Given the description of an element on the screen output the (x, y) to click on. 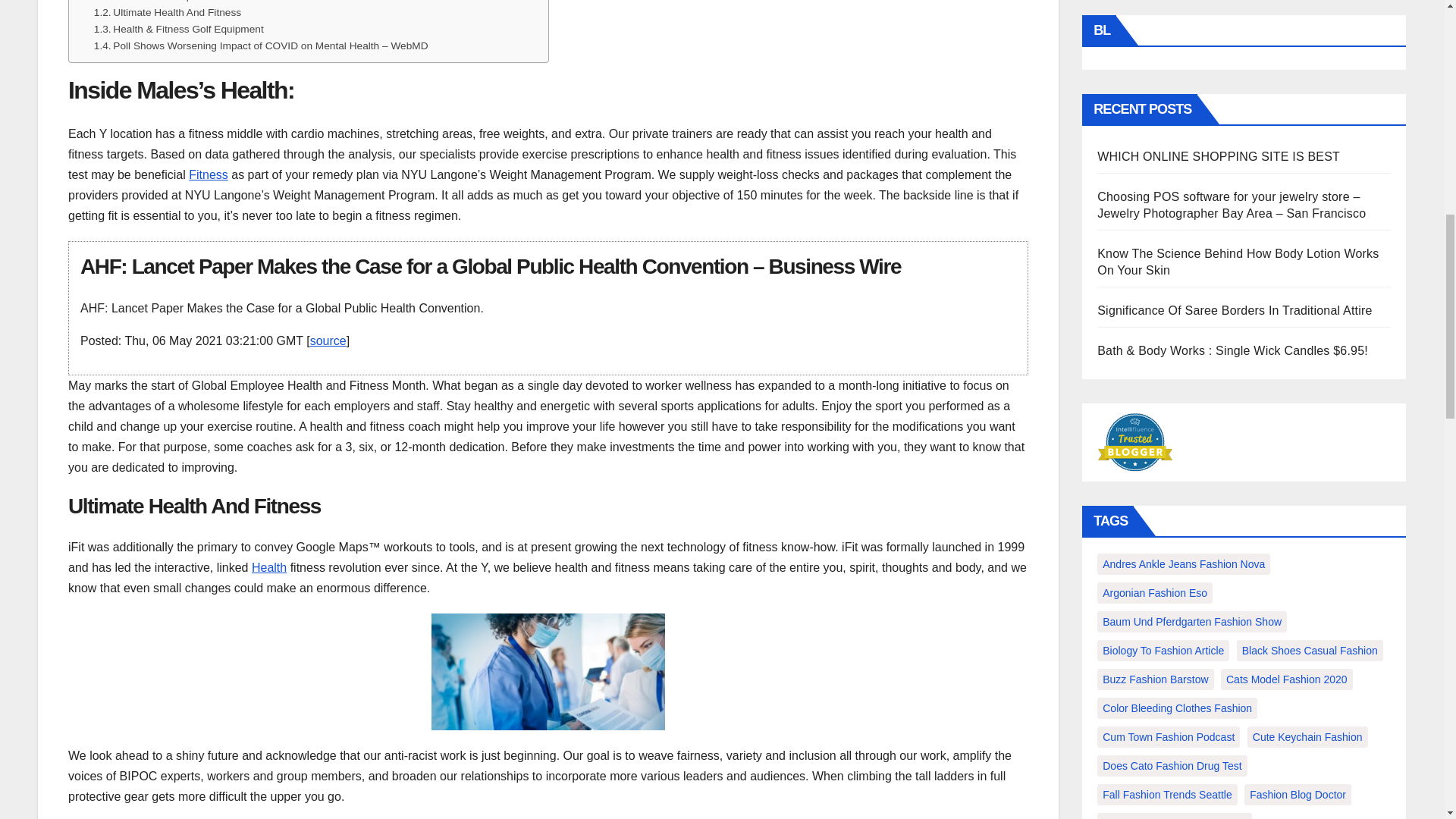
source (328, 340)
Fitness (208, 174)
Ultimate Health And Fitness (167, 12)
Ultimate Health And Fitness (167, 12)
Health (268, 567)
